Given the description of an element on the screen output the (x, y) to click on. 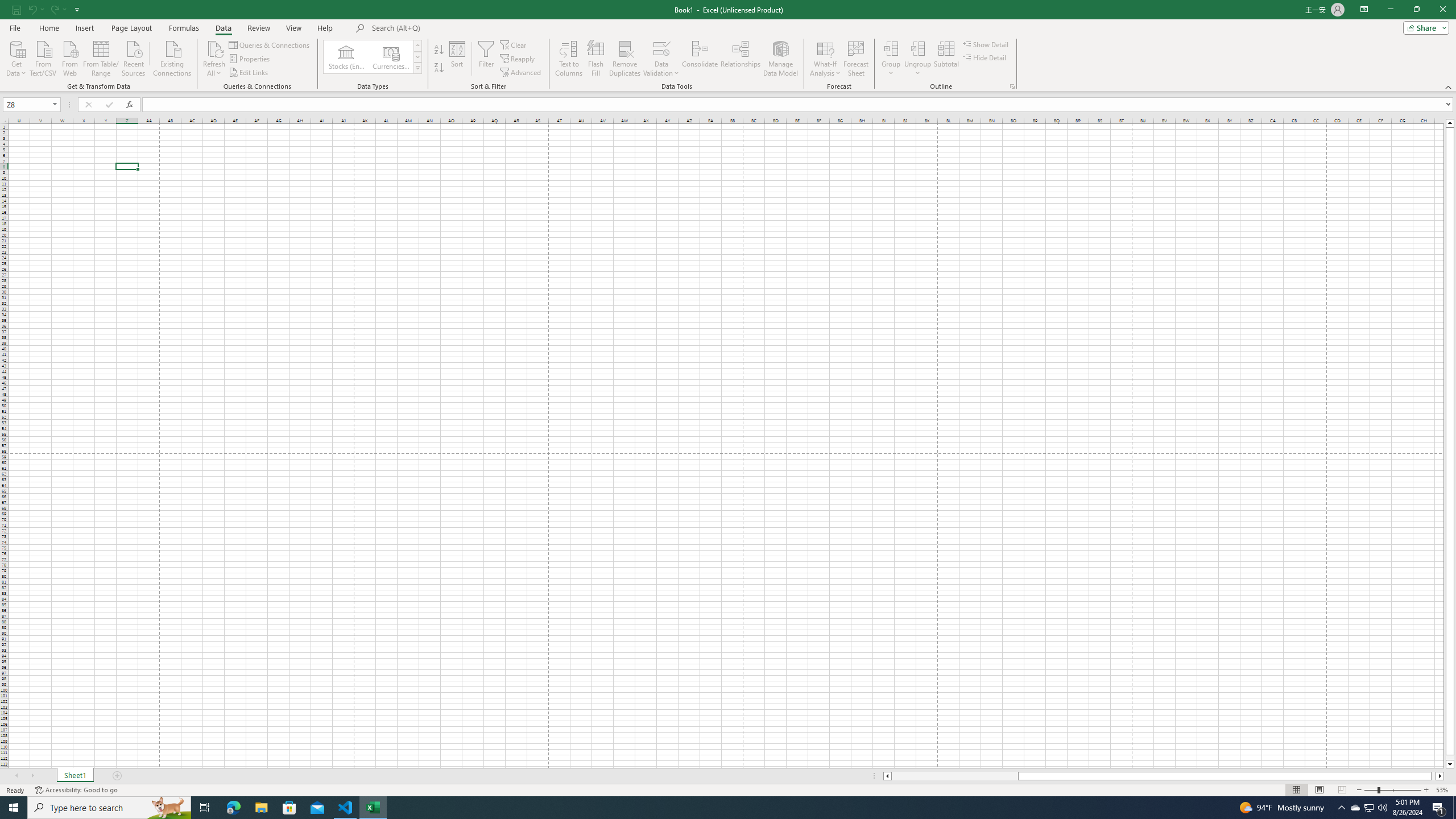
Row up (417, 45)
File Tab (15, 27)
Quick Access Toolbar (46, 9)
Properties (250, 58)
Column left (886, 775)
Save (16, 9)
From Web (69, 57)
Consolidate... (700, 58)
Ungroup... (917, 58)
Ungroup... (917, 48)
Ribbon Display Options (1364, 9)
Relationships (740, 58)
